Given the description of an element on the screen output the (x, y) to click on. 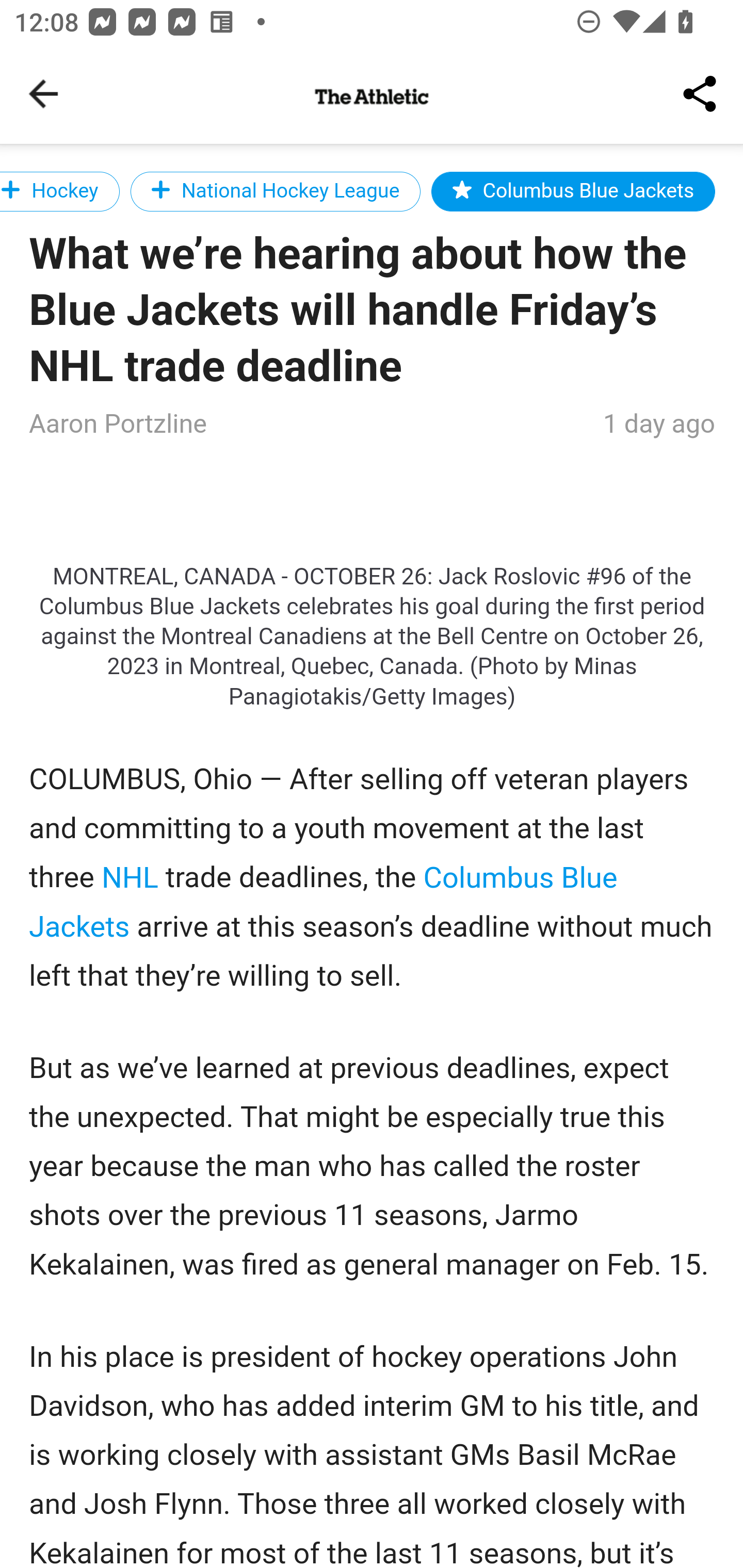
Hockey (60, 191)
National Hockey League (276, 191)
Columbus Blue Jackets (572, 191)
Columbus Blue Jackets (323, 901)
NHL (130, 876)
